Given the description of an element on the screen output the (x, y) to click on. 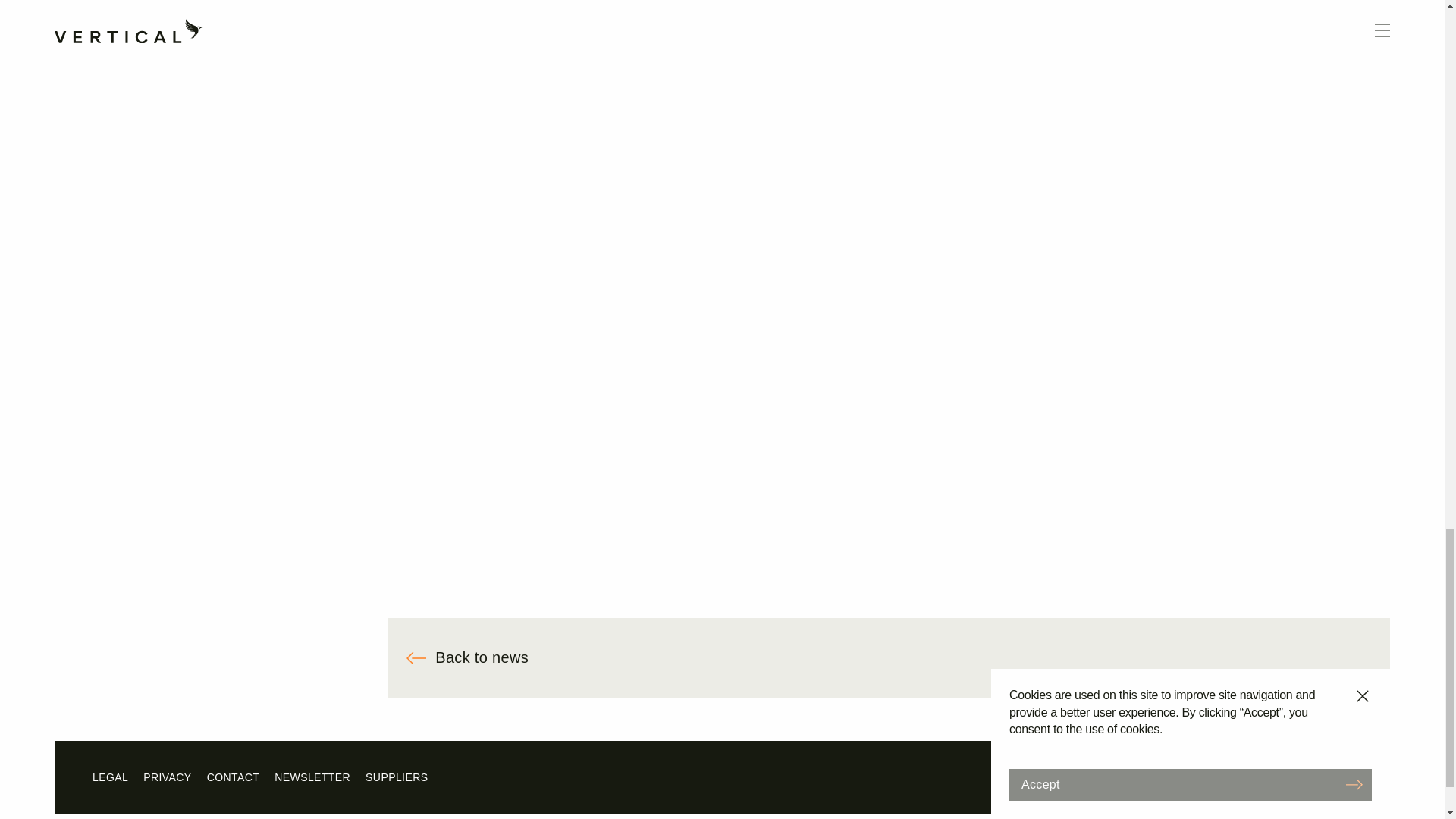
INSTAGRAM (1108, 777)
Back to news (889, 658)
LEGAL (110, 777)
LINKEDIN (1333, 777)
YOUTUBE (1265, 777)
NEWSLETTER (312, 777)
PRIVACY (166, 777)
CONTACT (233, 777)
SUPPLIERS (396, 777)
